Given the description of an element on the screen output the (x, y) to click on. 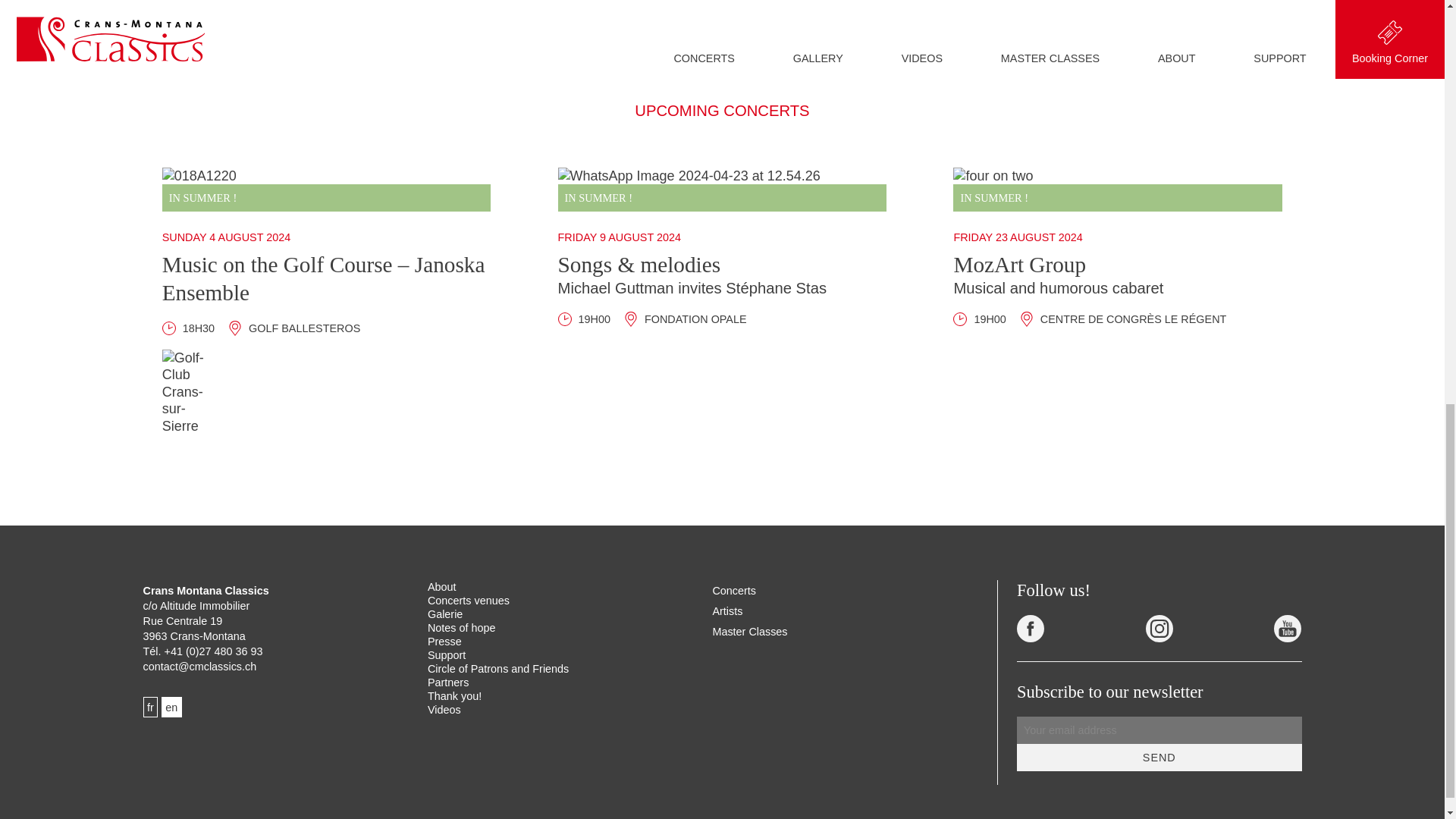
Send (1158, 757)
